Given the description of an element on the screen output the (x, y) to click on. 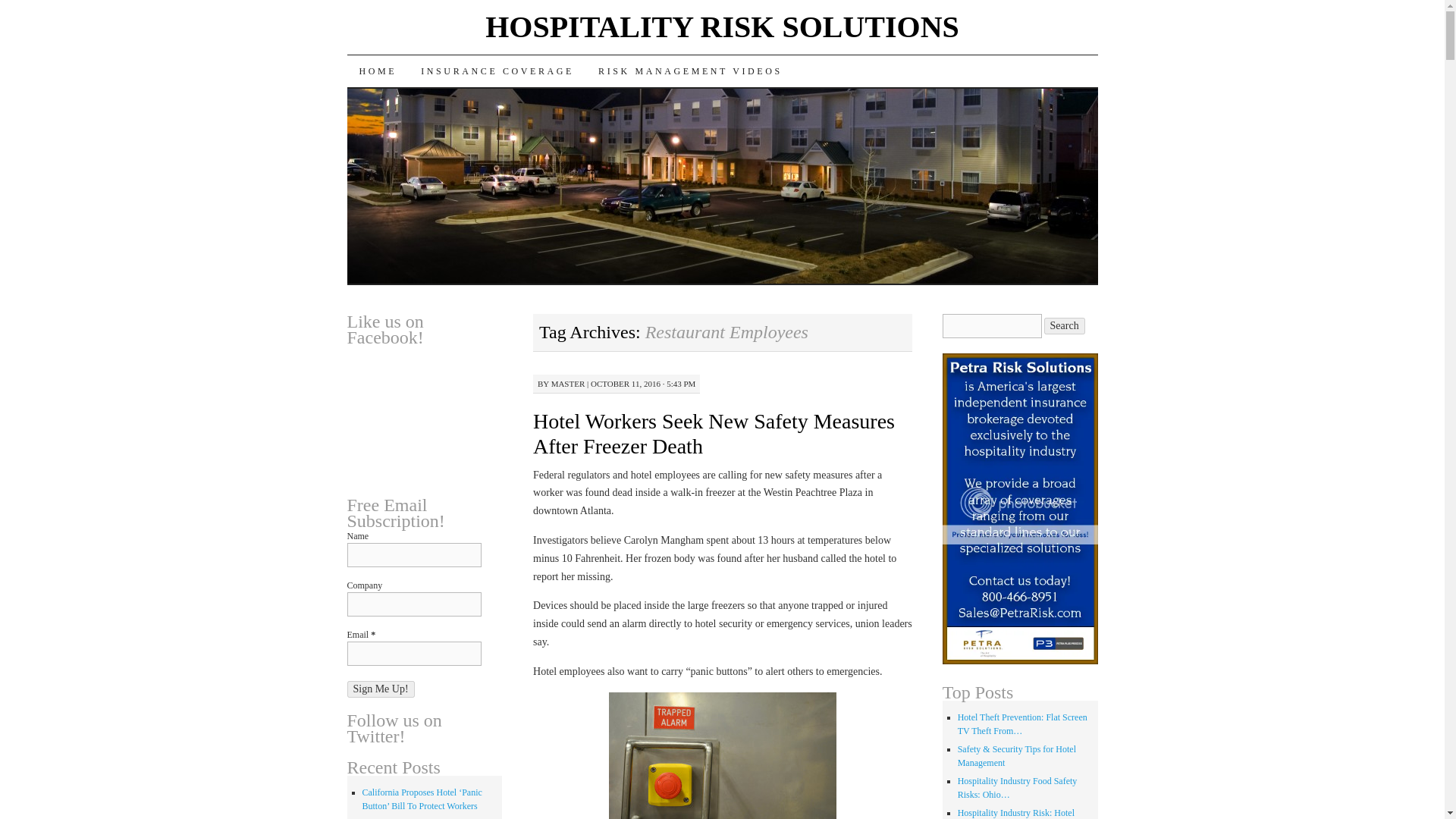
HOSPITALITY RISK SOLUTIONS (721, 26)
Email (414, 653)
MASTER (568, 383)
RISK MANAGEMENT VIDEOS (690, 70)
Name (414, 554)
Skip to content (429, 70)
INSURANCE COVERAGE (497, 70)
HOME (378, 70)
Sign Me Up! (380, 688)
Hotel Workers Seek New Safety Measures After Freezer Death (713, 433)
HOSPITALITY RISK SOLUTIONS (721, 26)
Search (1063, 325)
SKIP TO CONTENT (429, 70)
Company (414, 604)
View all posts by master (568, 383)
